Given the description of an element on the screen output the (x, y) to click on. 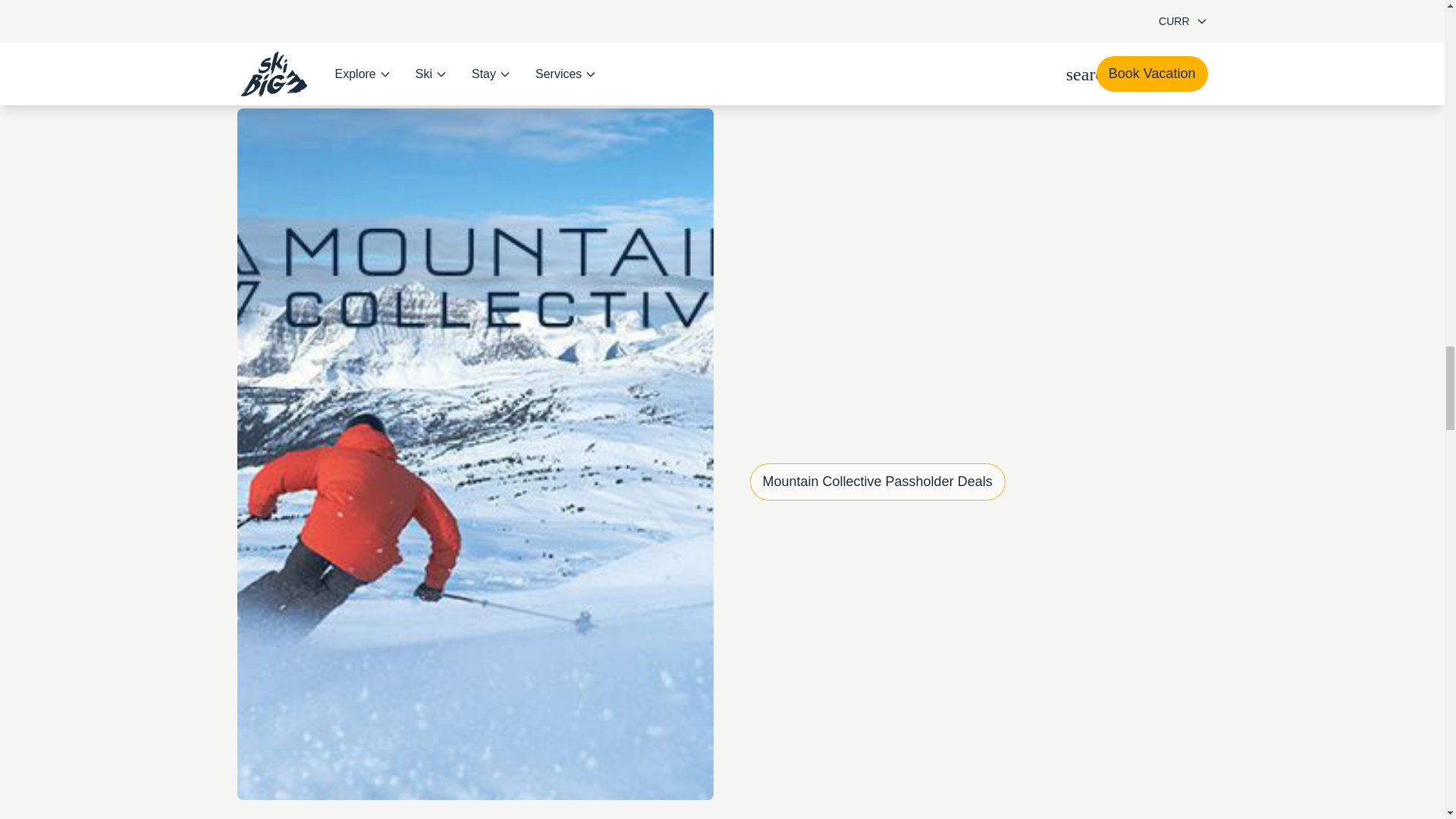
Mountain Collective Passholder Deals (876, 481)
Mountain Collective Passholder Deals (876, 481)
